Given the description of an element on the screen output the (x, y) to click on. 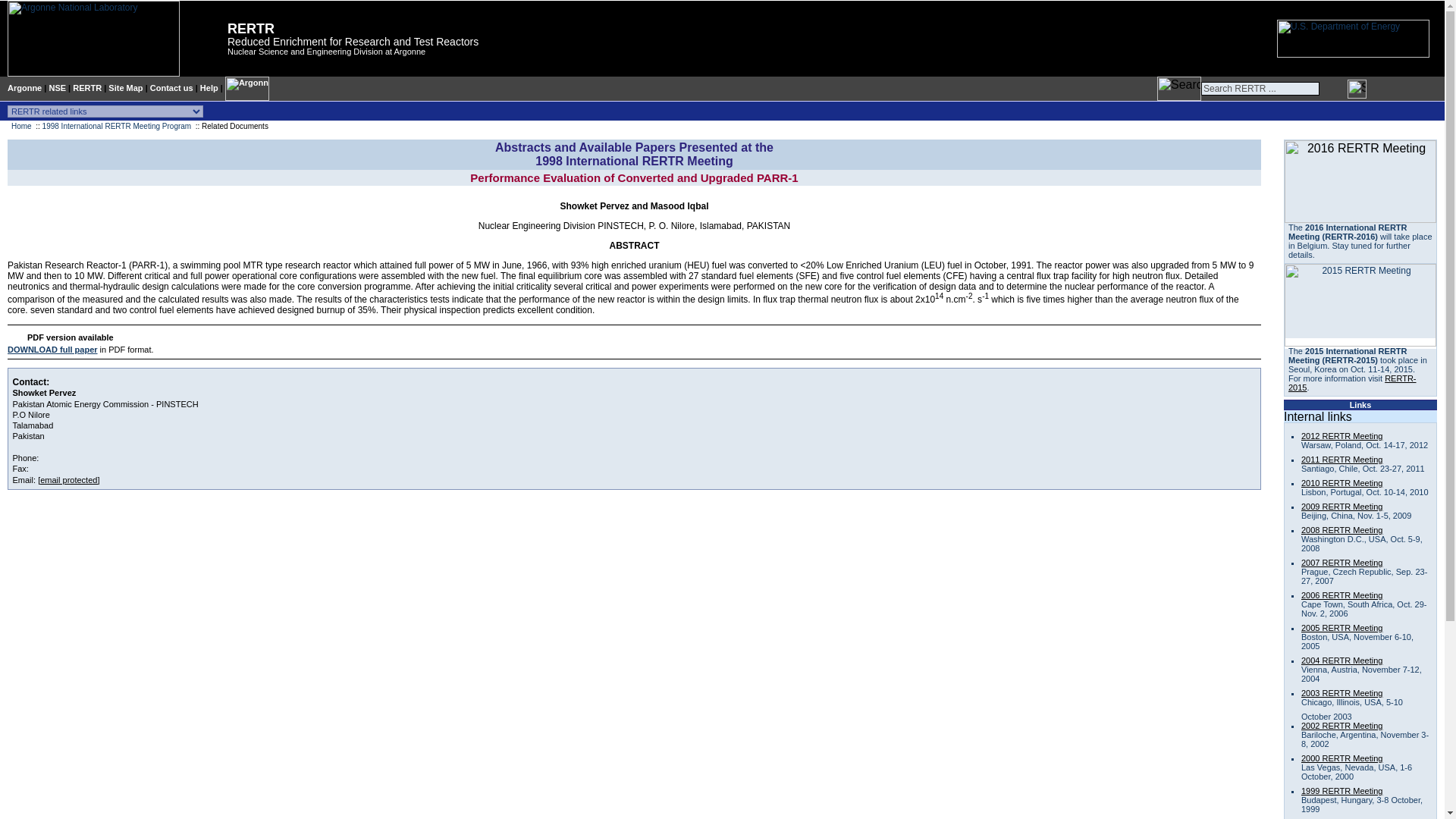
Site Map (124, 87)
RERTR-2015 (1352, 382)
Help (209, 87)
2003 RERTR Meeting (1341, 692)
Argonne website (89, 72)
2002 RERTR Meeting (1341, 725)
2005 RERTR Meeting (1341, 627)
Home (21, 126)
RERTR (251, 28)
1998 International RERTR Meeting Program (117, 126)
